Given the description of an element on the screen output the (x, y) to click on. 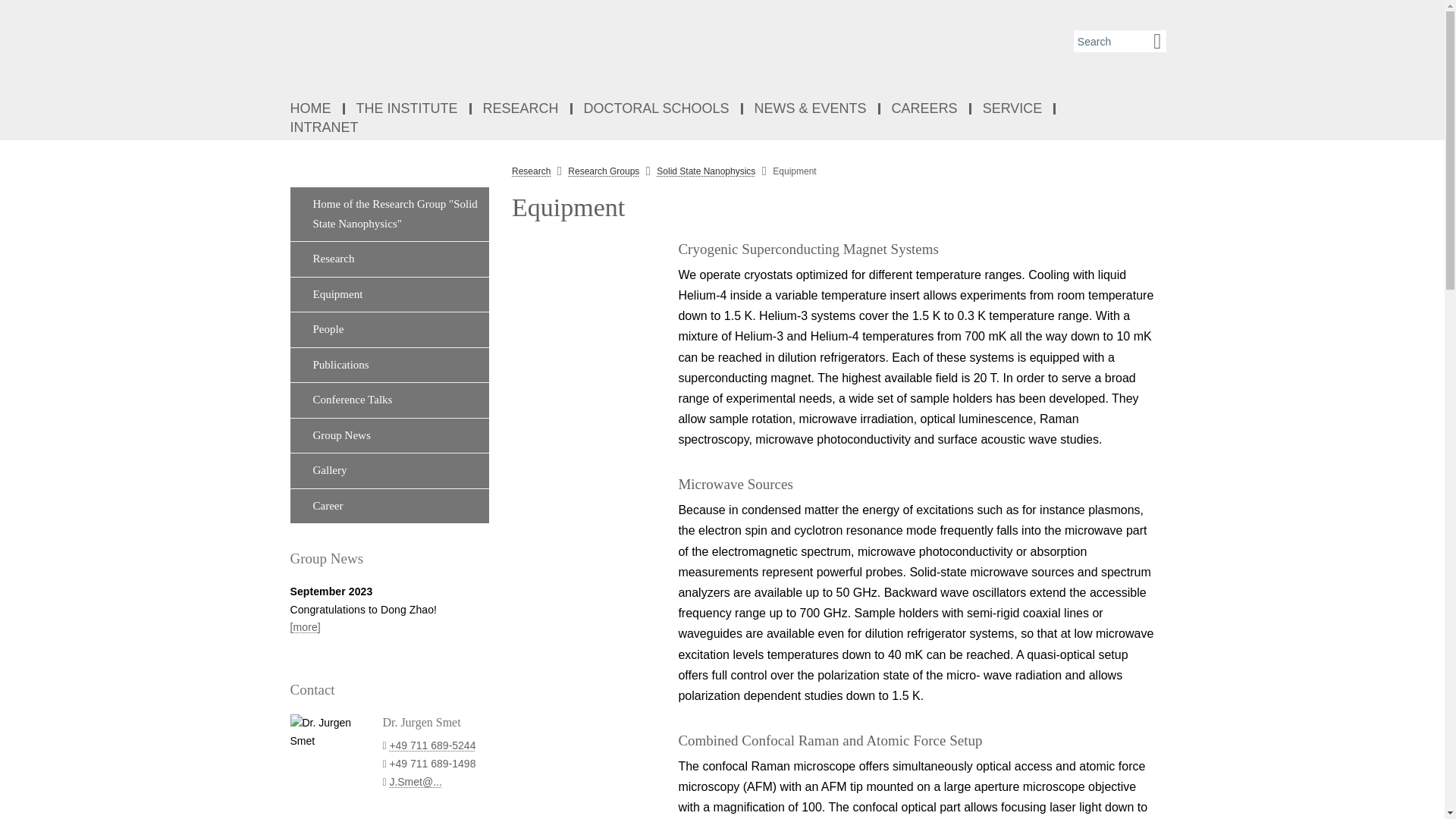
HOME (312, 108)
THE INSTITUTE (406, 108)
Print (1177, 184)
RESEARCH (521, 108)
